Given the description of an element on the screen output the (x, y) to click on. 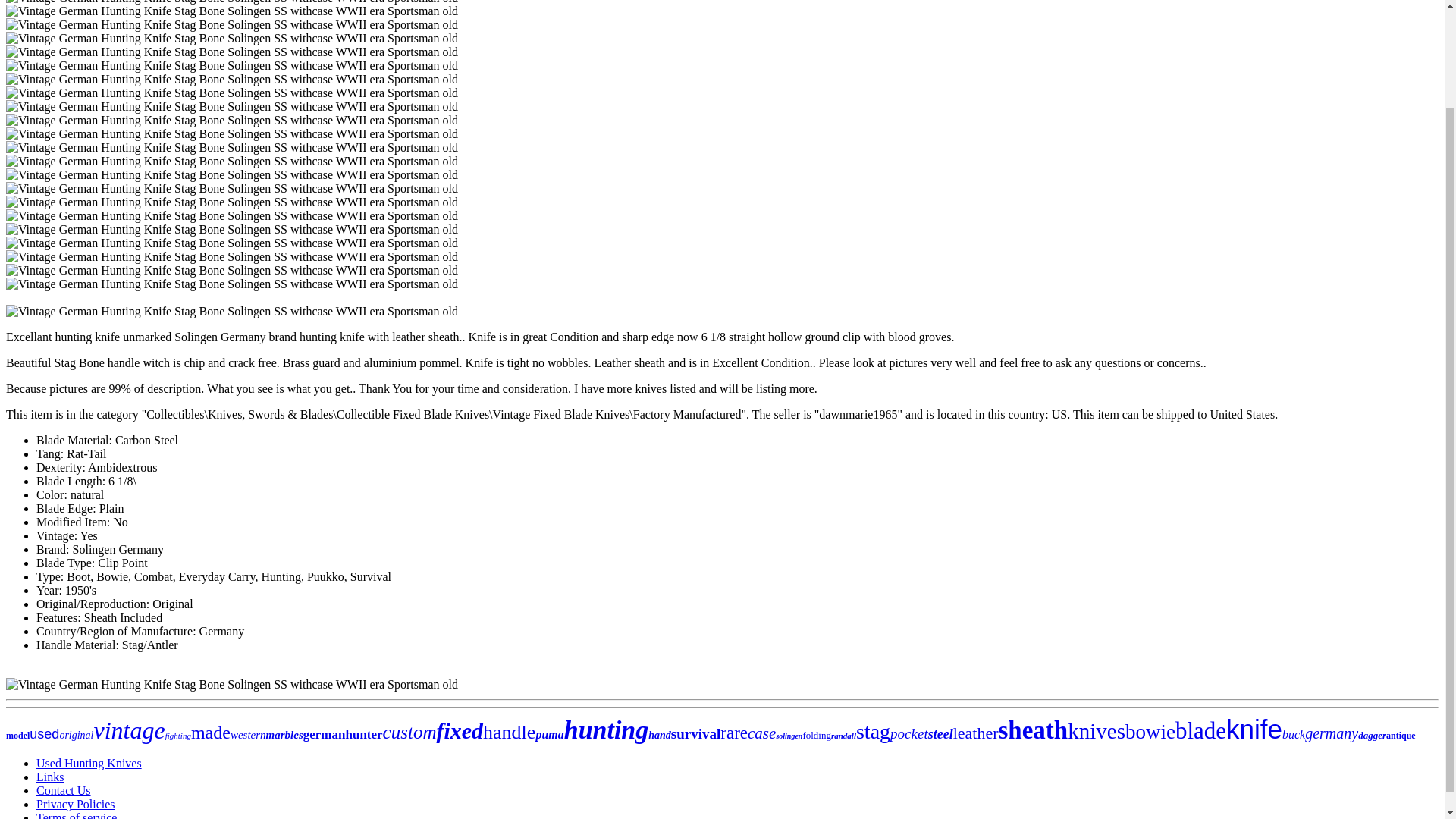
made (210, 732)
randall (843, 735)
fixed (459, 730)
german (324, 734)
rare (734, 732)
vintage (129, 729)
model (17, 735)
marbles (284, 734)
hunting (606, 729)
pocket (908, 733)
folding (816, 735)
